Given the description of an element on the screen output the (x, y) to click on. 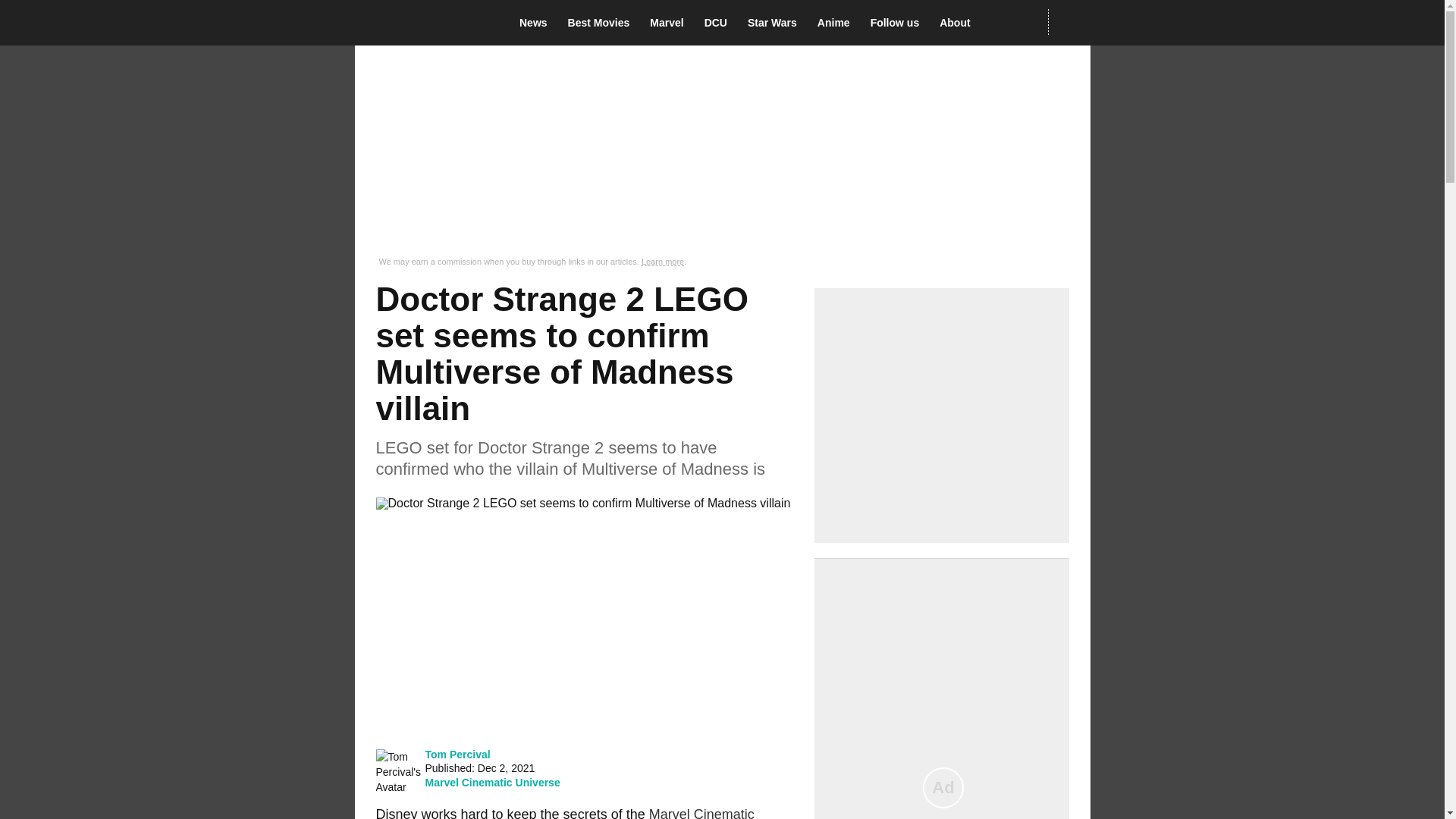
Marvel (671, 22)
Follow us (899, 22)
The Digital Fix (424, 22)
Star Wars News (777, 22)
Learn more (663, 261)
Marvel Cinematic Universe (492, 782)
Anime (837, 22)
Star Wars (777, 22)
Tom Percival (457, 754)
Anime News (837, 22)
Marvel Cinematic Universe (564, 812)
Best Movies (603, 22)
Marvel Cinematic Universe News (671, 22)
Network N Media (1068, 22)
